Given the description of an element on the screen output the (x, y) to click on. 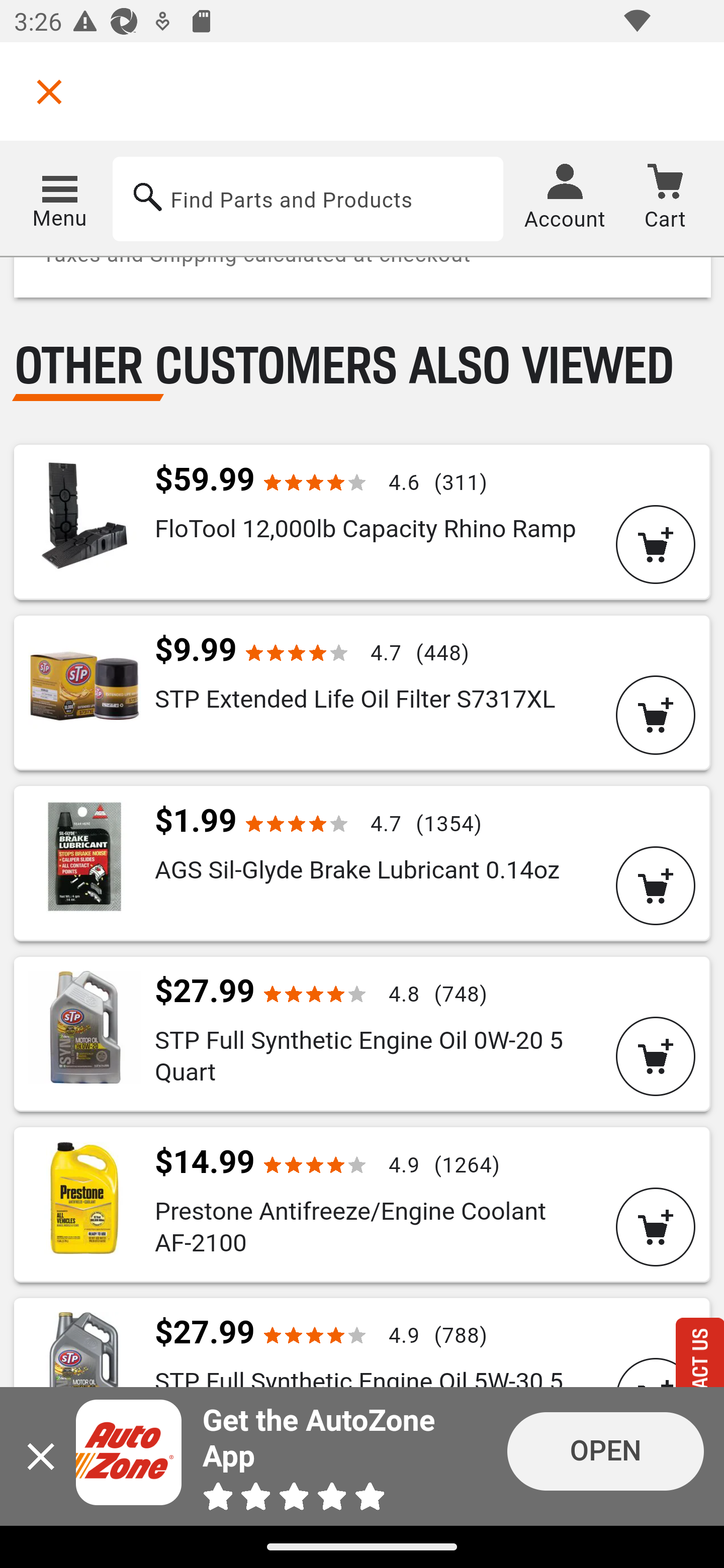
 (49, 91)
Add FloTool 12,000lb Capacity Rhino Ramp TO CART (656, 545)
Add STP Extended Life Oil Filter S7317XL TO CART (656, 715)
Add AGS Sil-Glyde Brake Lubricant 0.14oz TO CART (656, 886)
Close icon Get the AutoZone App OPEN (362, 1456)
